Given the description of an element on the screen output the (x, y) to click on. 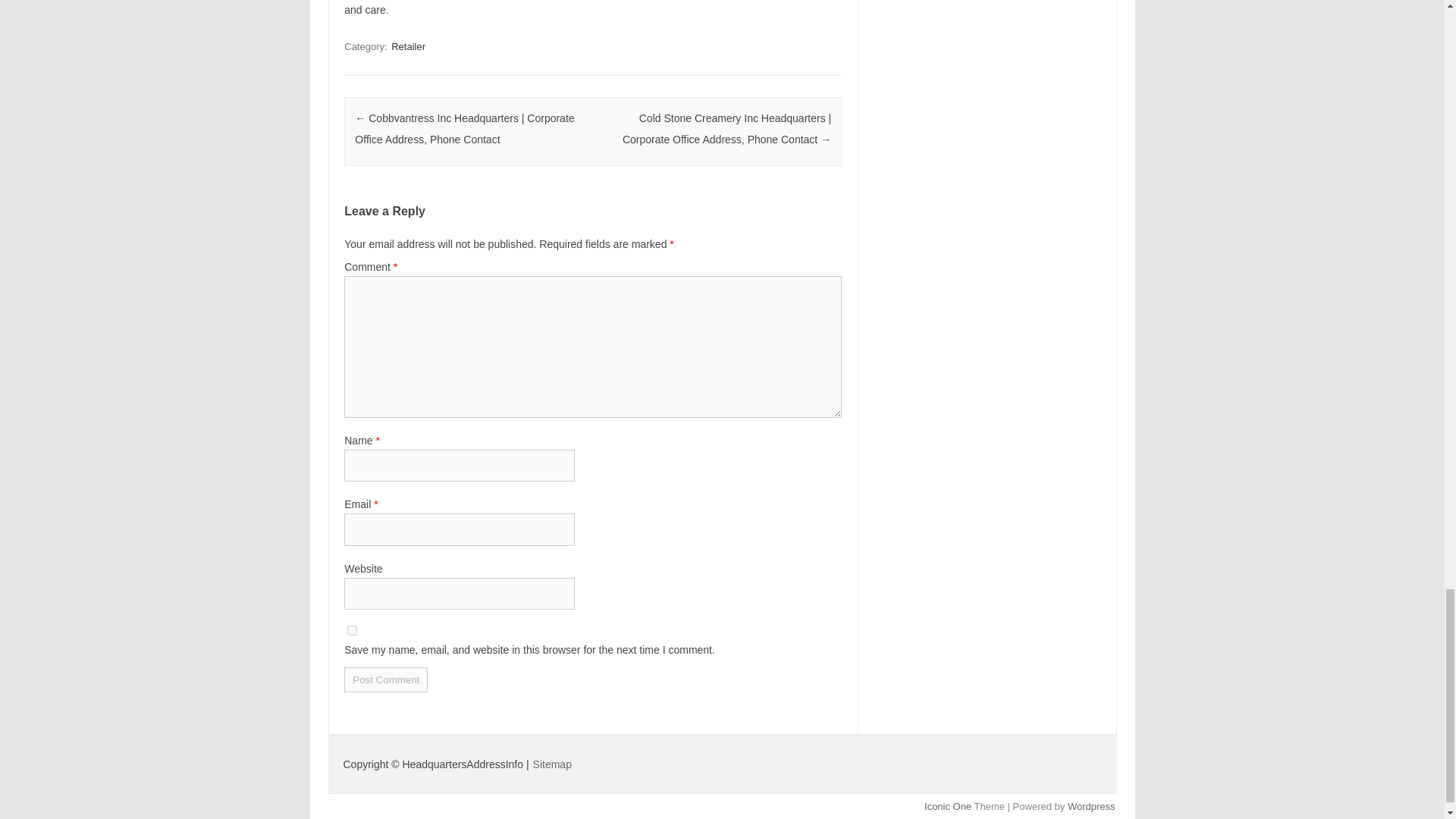
Wordpress (1091, 806)
Sitemap (552, 764)
Post Comment (385, 679)
Retailer (408, 46)
yes (351, 630)
Iconic One (947, 806)
Post Comment (385, 679)
